Given the description of an element on the screen output the (x, y) to click on. 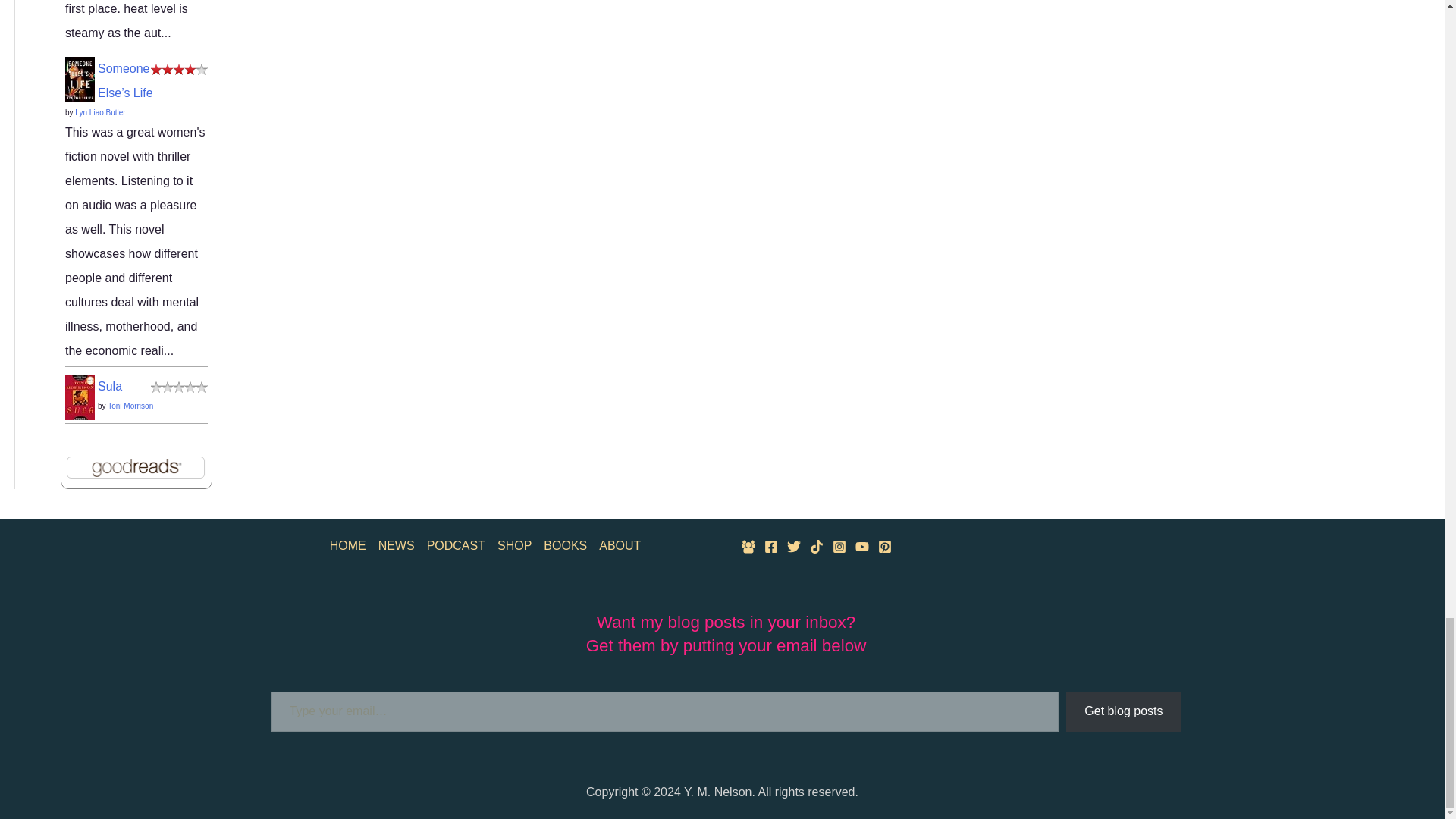
really liked it (179, 68)
Sula (79, 396)
Please fill in this field. (664, 711)
